Given the description of an element on the screen output the (x, y) to click on. 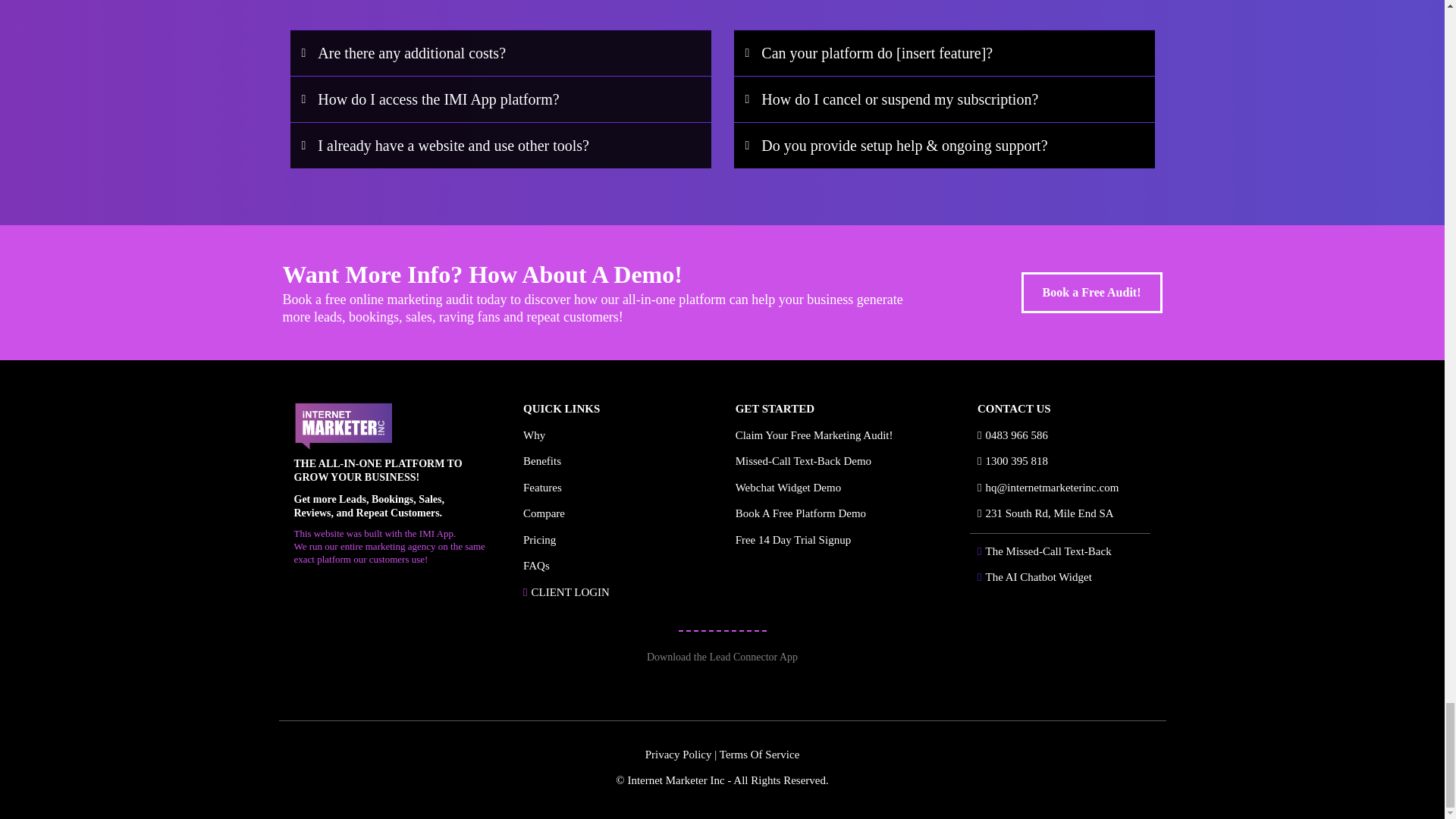
Compare (543, 512)
Benefits (541, 460)
The AI Chatbot Widget (1038, 576)
Pricing (539, 539)
Webchat Widget Demo (788, 487)
Terms Of Service (759, 754)
CLIENT LOGIN (569, 592)
Why (533, 435)
Features (542, 487)
Claim Your Free Marketing Audit! (814, 435)
Missed-Call Text-Back Demo (802, 460)
FAQs (536, 565)
Privacy Policy (678, 754)
Free 14 Day Trial Signup (793, 539)
The Missed-Call Text-Back (1048, 551)
